Given the description of an element on the screen output the (x, y) to click on. 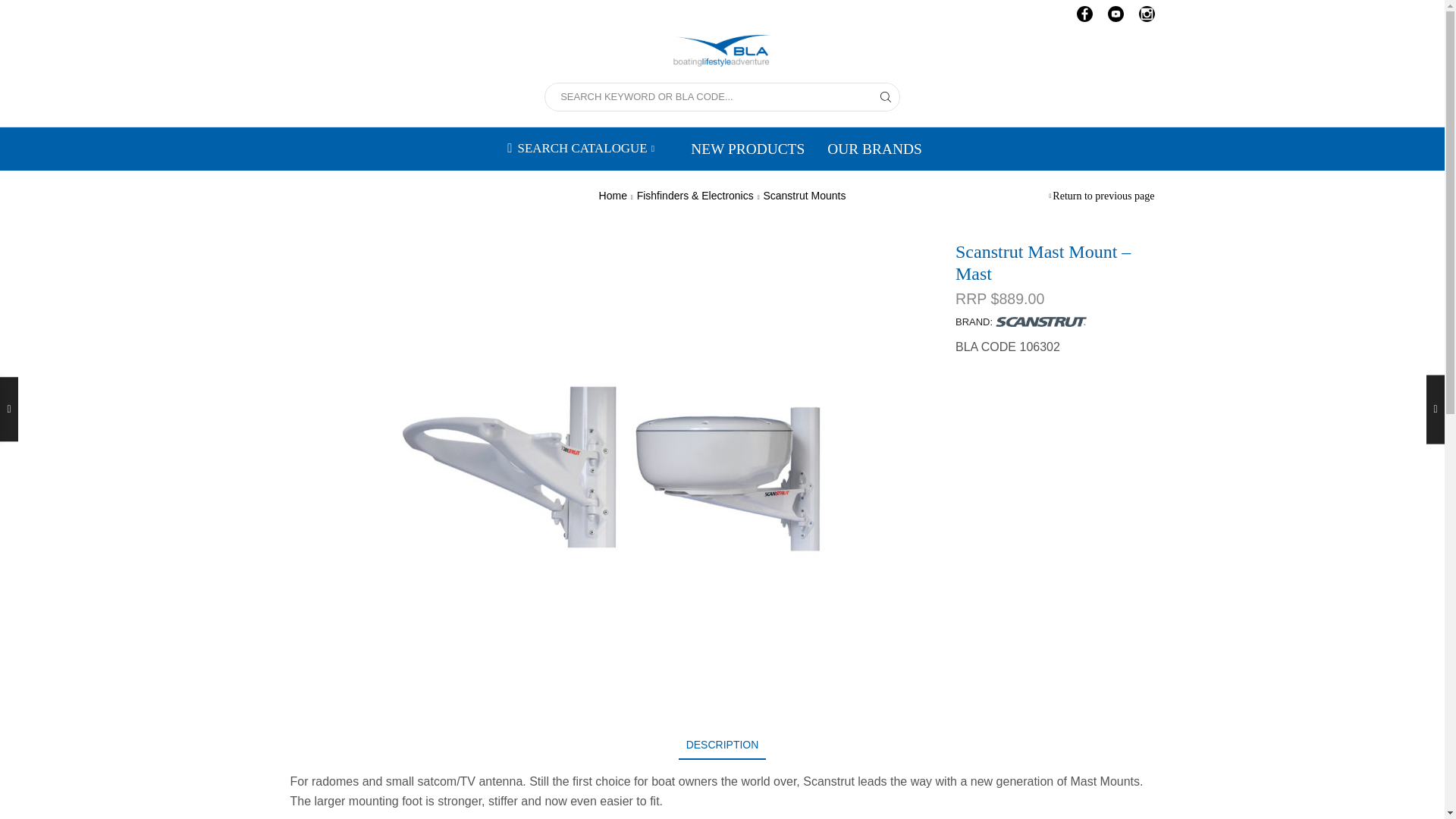
Facebook (1085, 14)
NEW PRODUCTS (747, 149)
Instagram (1146, 14)
OUR BRANDS (874, 149)
Youtube (1114, 14)
